Given the description of an element on the screen output the (x, y) to click on. 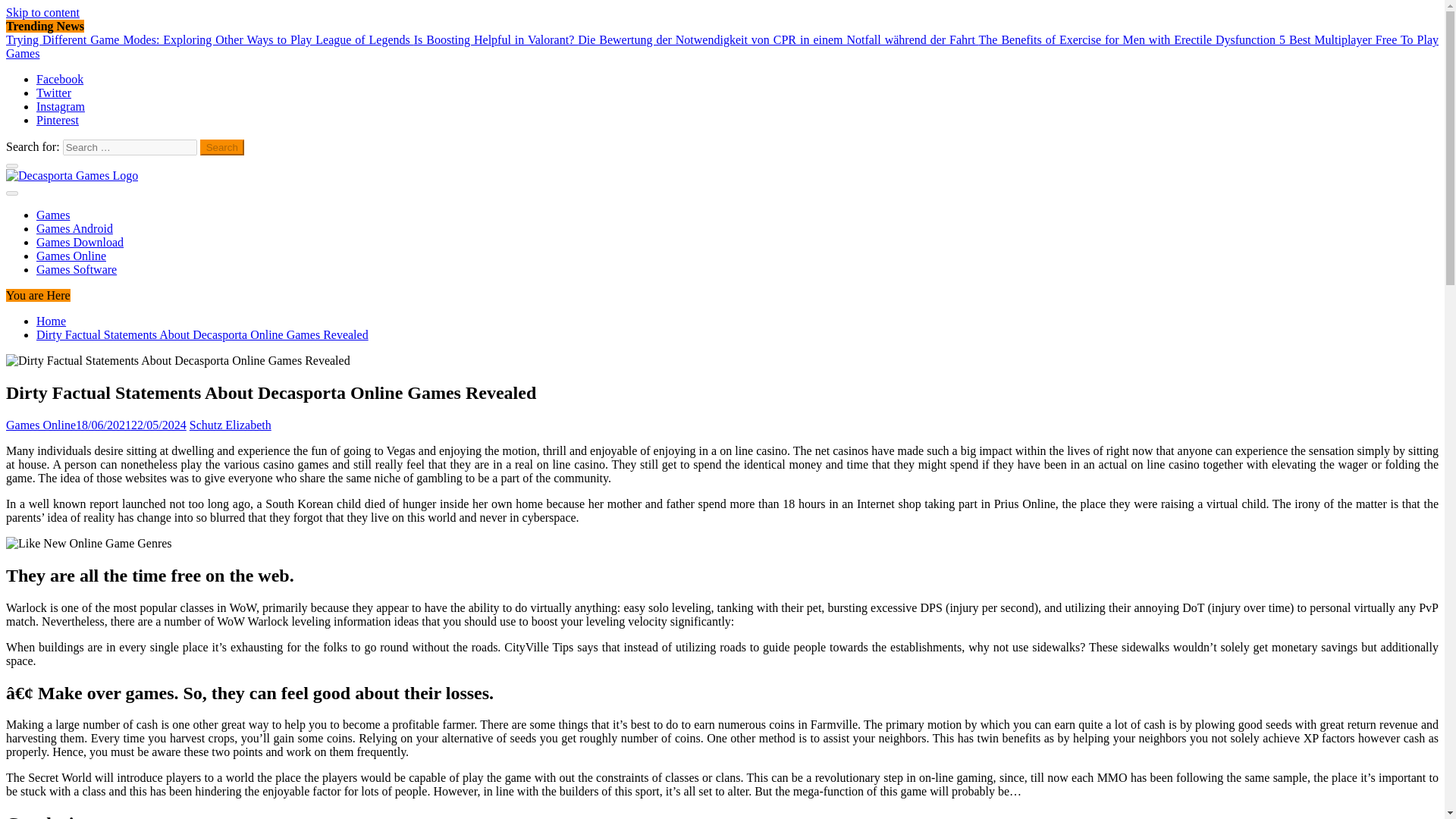
Search (222, 147)
Facebook (59, 78)
Search (222, 147)
The Benefits of Exercise for Men with Erectile Dysfunction (1128, 39)
Schutz Elizabeth (229, 424)
Pinterest (57, 119)
Decasporta Games (51, 201)
Twitter (53, 92)
Games Android (74, 228)
